Given the description of an element on the screen output the (x, y) to click on. 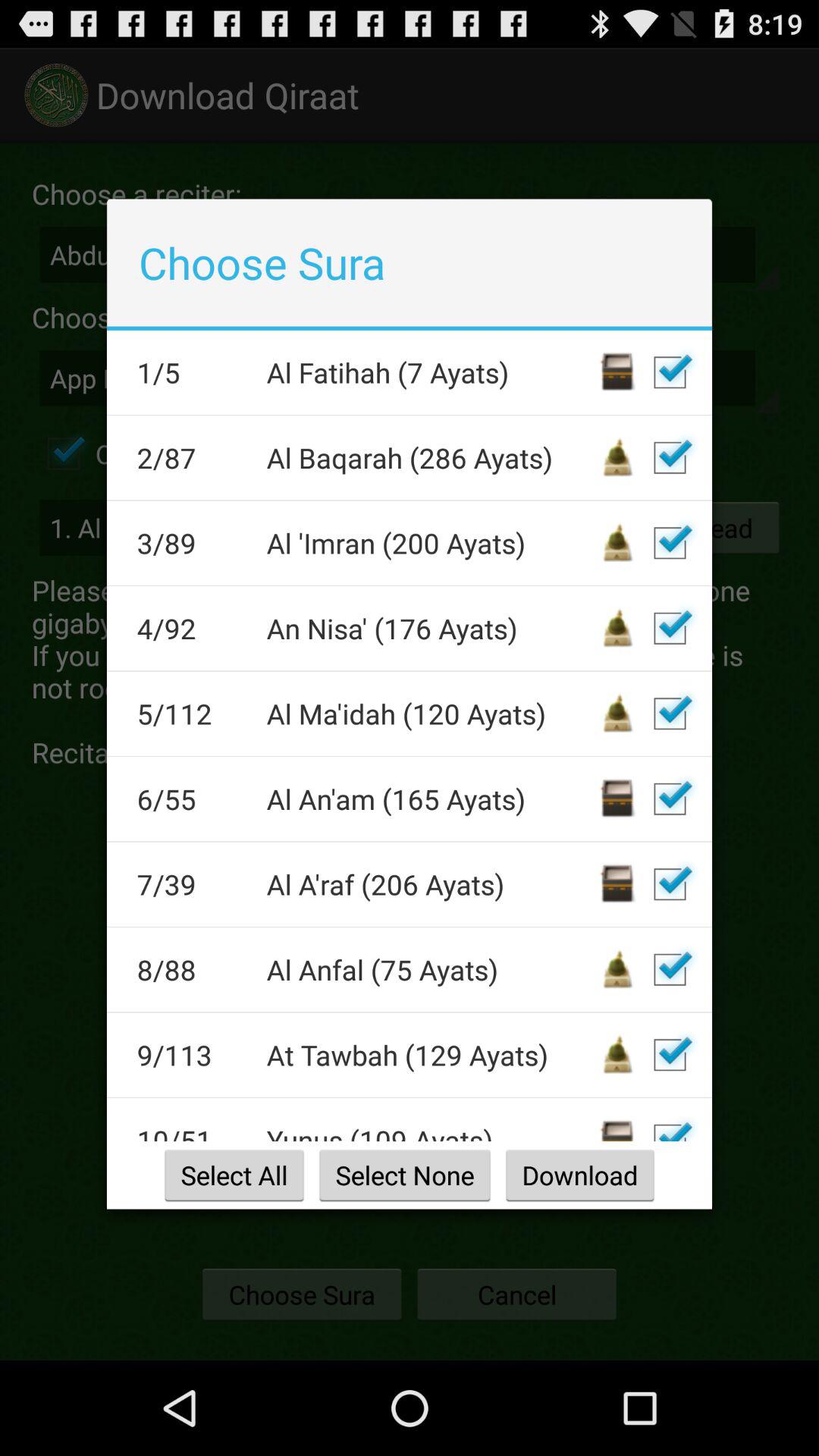
tick box (669, 1124)
